Given the description of an element on the screen output the (x, y) to click on. 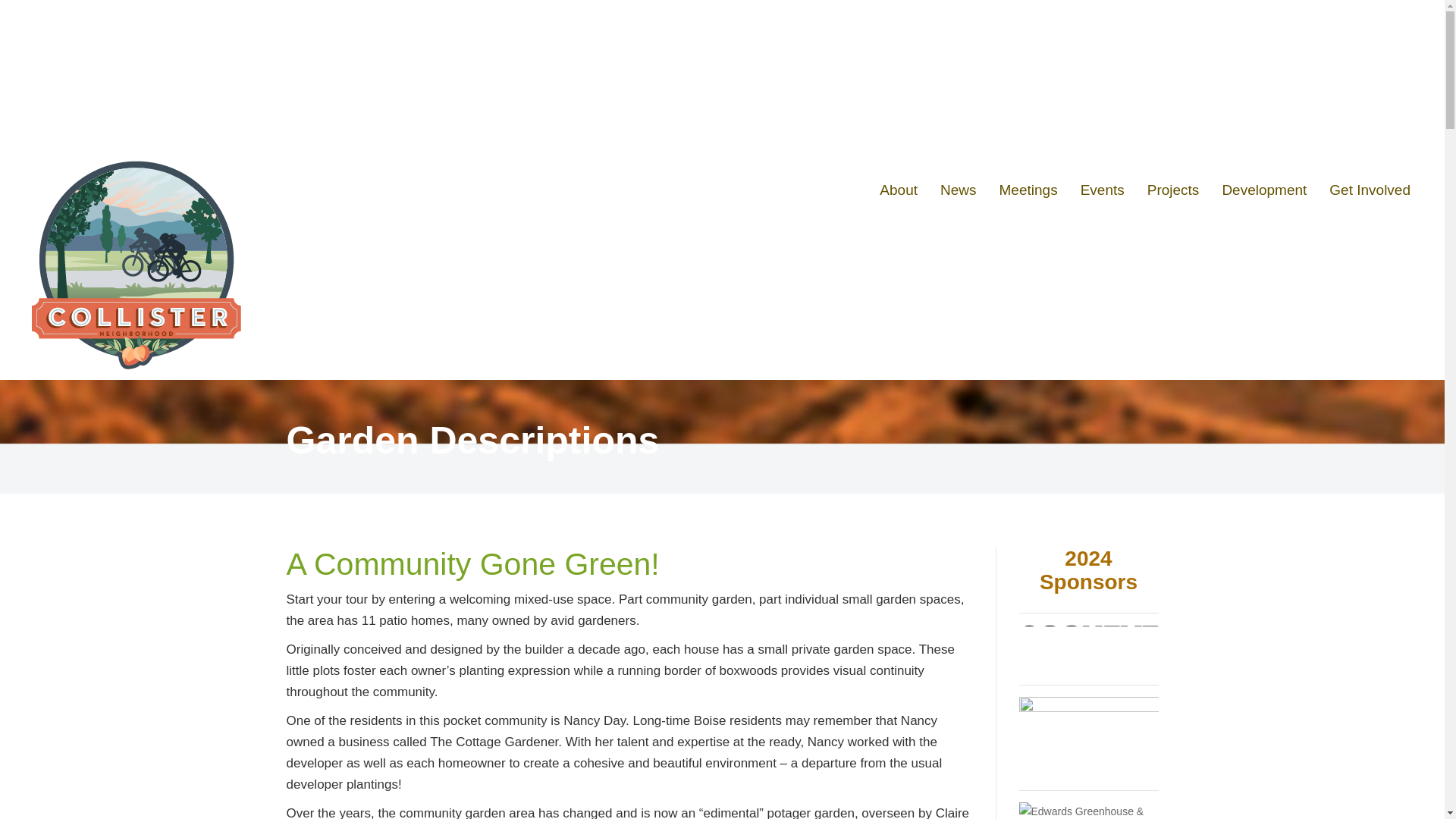
News (958, 189)
Development (1263, 189)
Events (1101, 189)
Projects (1173, 189)
About (897, 189)
Meetings (1028, 189)
Get Involved (1369, 189)
